Given the description of an element on the screen output the (x, y) to click on. 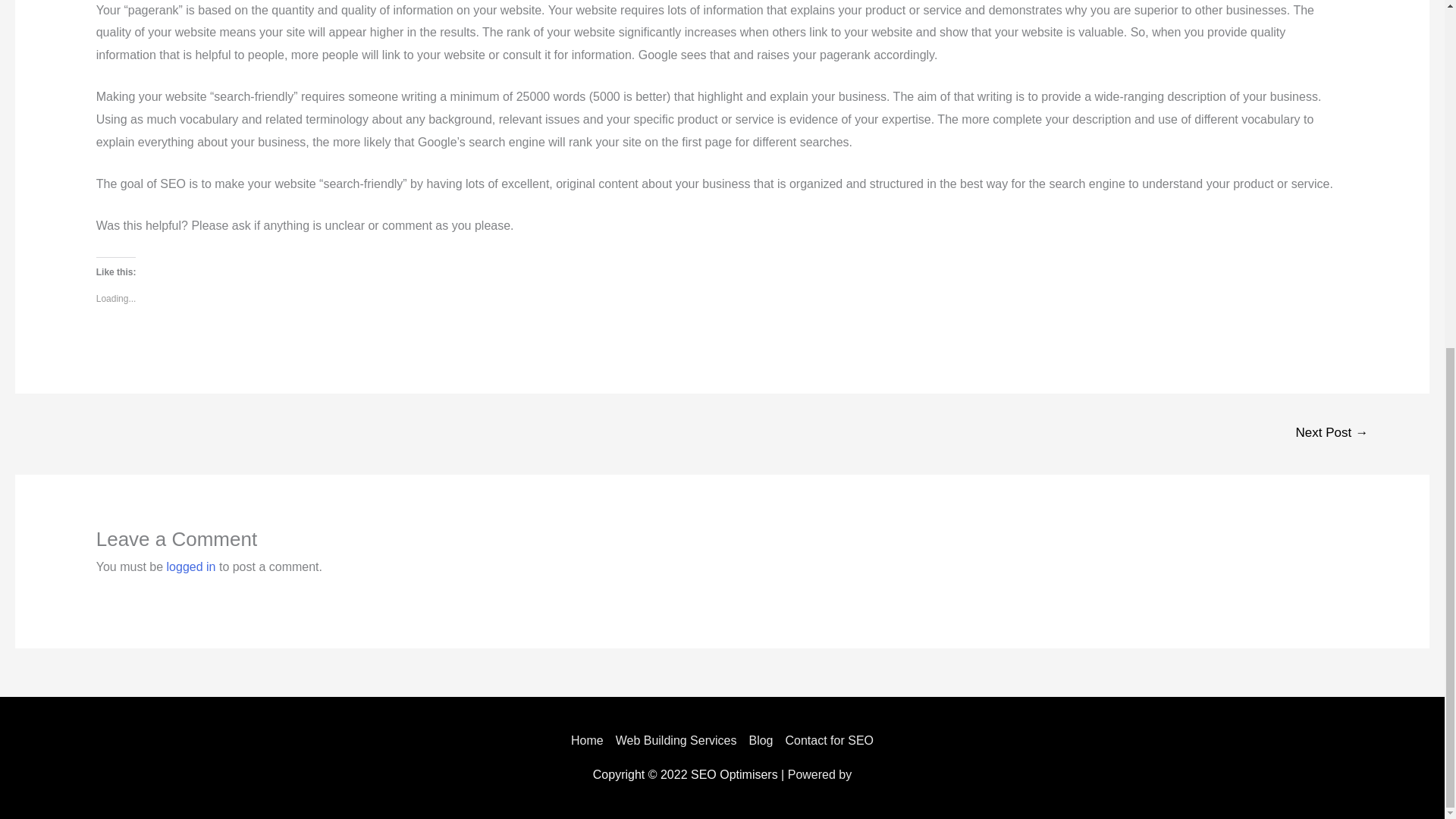
Powered by (819, 774)
logged in (191, 566)
Contact for SEO (826, 739)
Web Building Services (676, 739)
Blog (760, 739)
Home (590, 739)
